Given the description of an element on the screen output the (x, y) to click on. 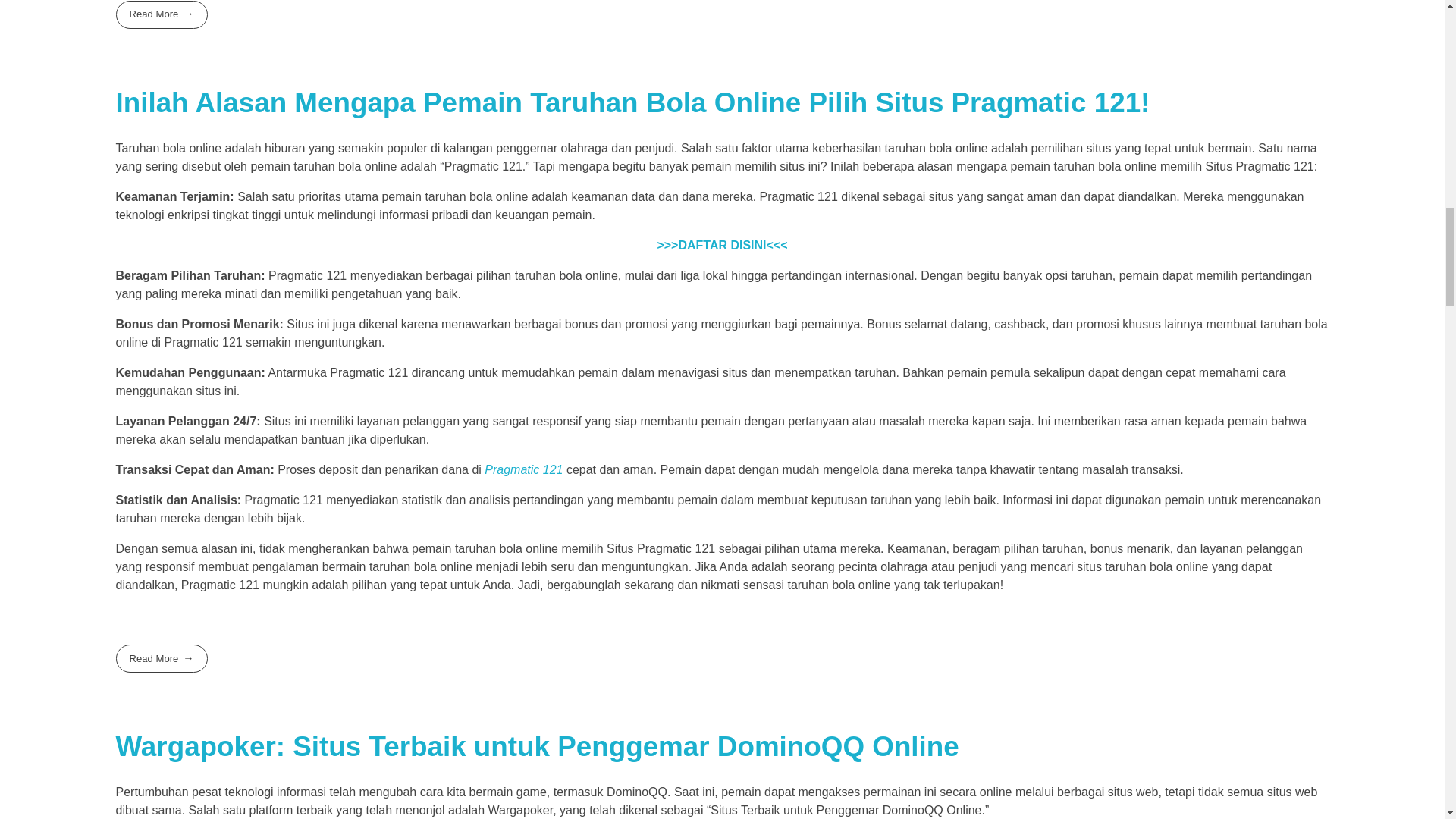
Wargapoker: Situs Terbaik untuk Penggemar DominoQQ Online (536, 746)
Read More (160, 14)
Pragmatic 121 (523, 469)
Read More (160, 658)
